Given the description of an element on the screen output the (x, y) to click on. 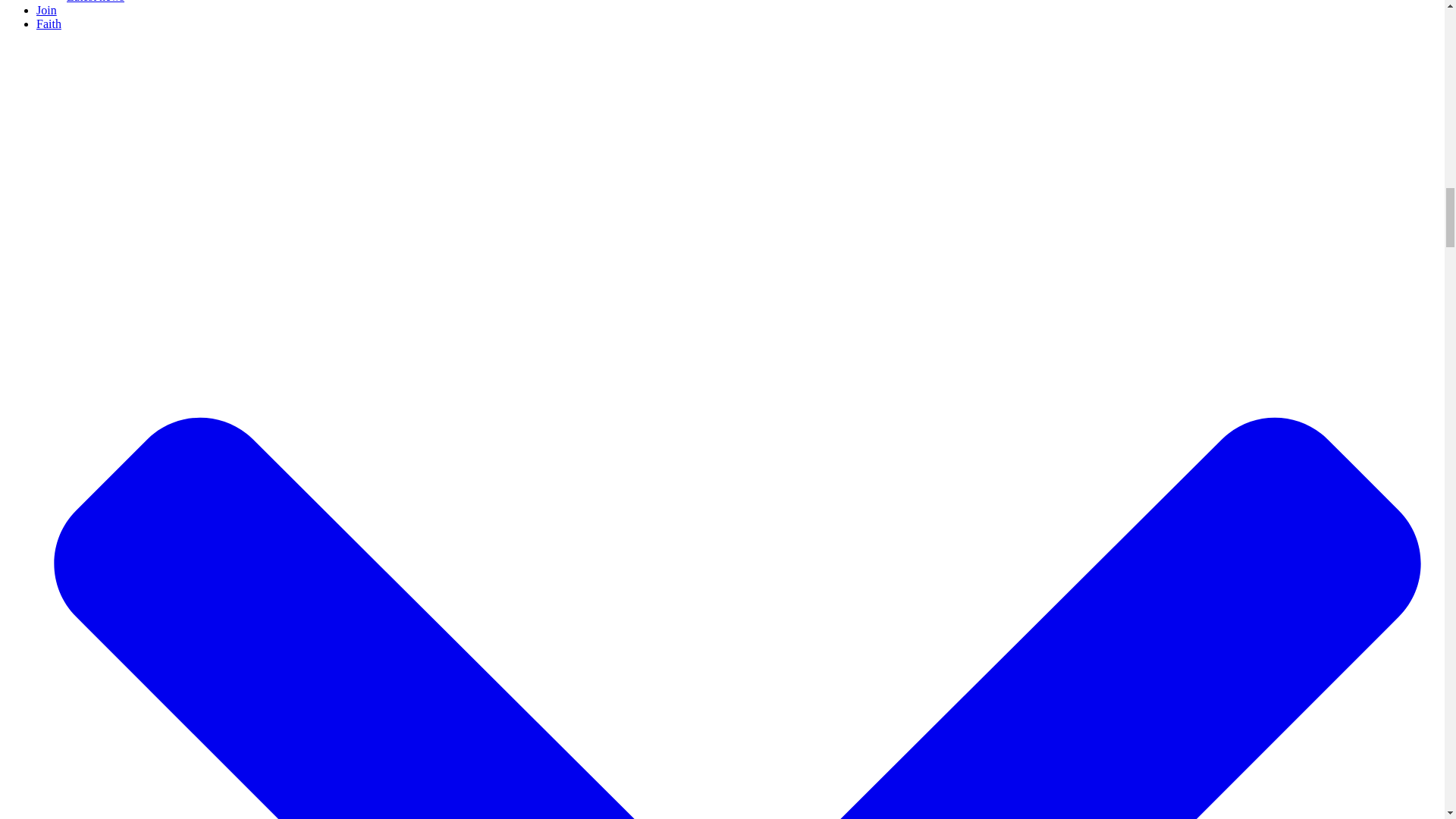
Latest news (94, 1)
Latest news (94, 1)
Join (46, 10)
